Given the description of an element on the screen output the (x, y) to click on. 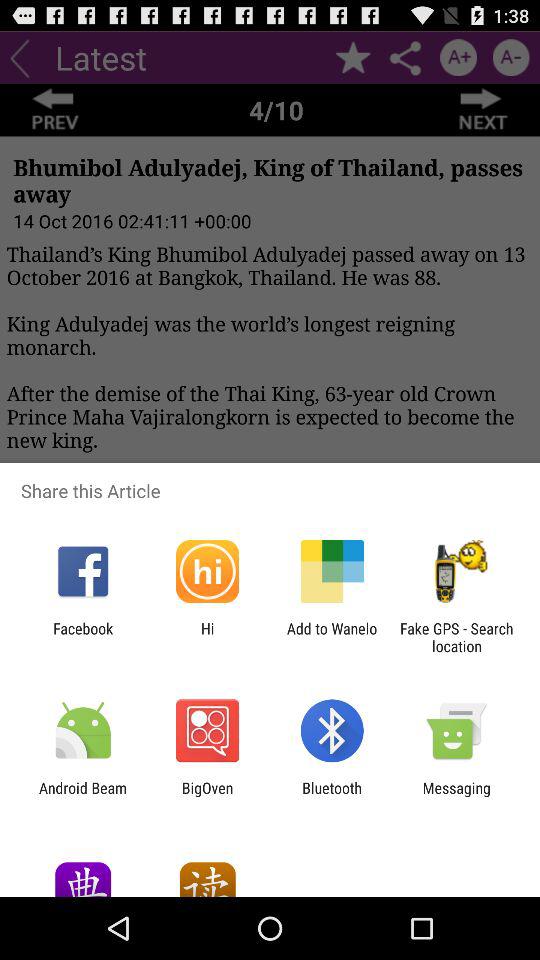
scroll to bigoven app (207, 796)
